Given the description of an element on the screen output the (x, y) to click on. 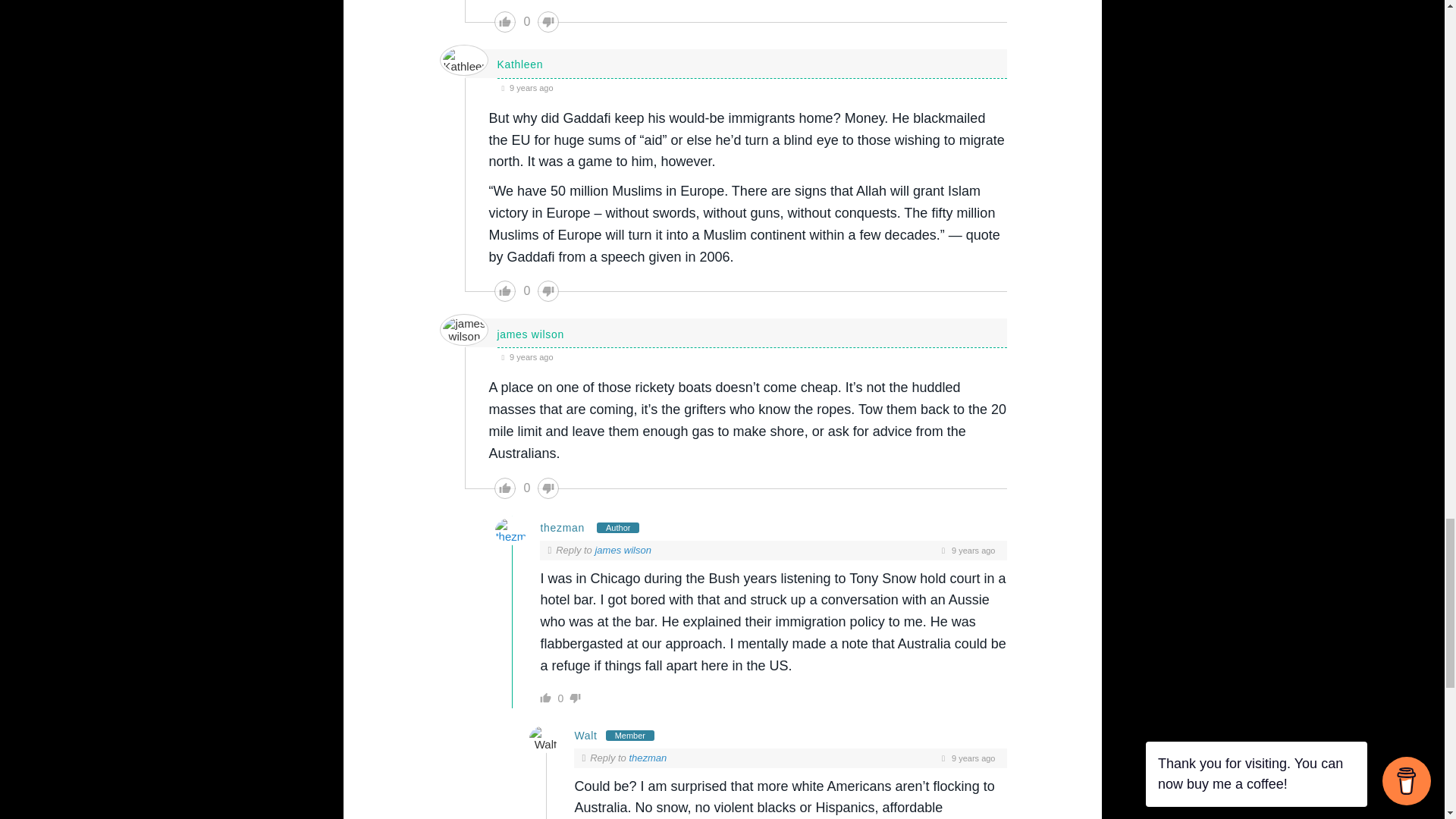
thezman (562, 527)
0 (526, 21)
james wilson (622, 550)
April 27, 2015 11:44 am (751, 87)
